Given the description of an element on the screen output the (x, y) to click on. 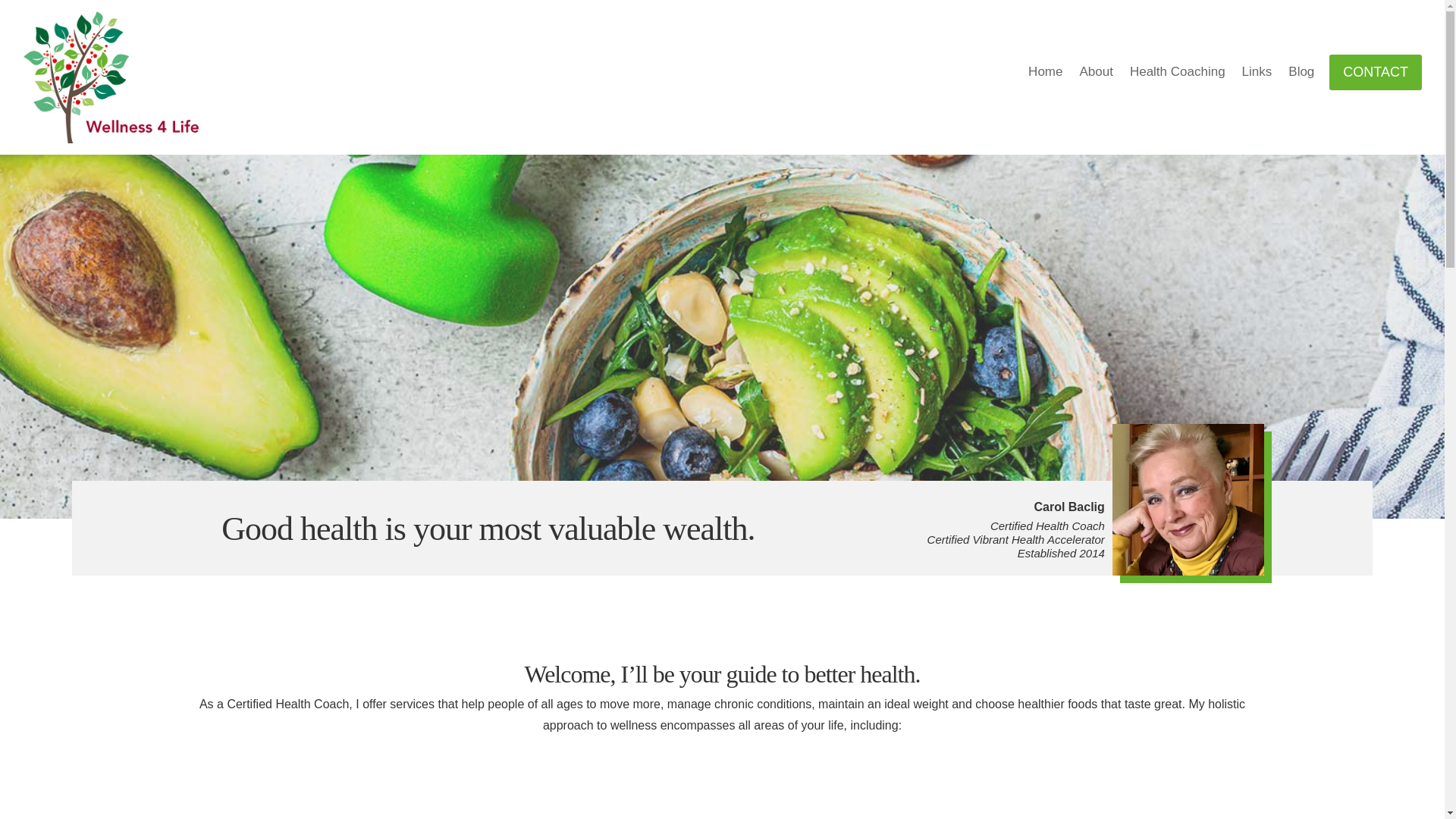
live-long-lucky8 (117, 77)
Home (1044, 74)
About (1095, 74)
CONTACT (1375, 72)
Blog (1301, 74)
carol-baclig-headshot (1187, 499)
Links (1256, 74)
Health Coaching (1177, 74)
